Given the description of an element on the screen output the (x, y) to click on. 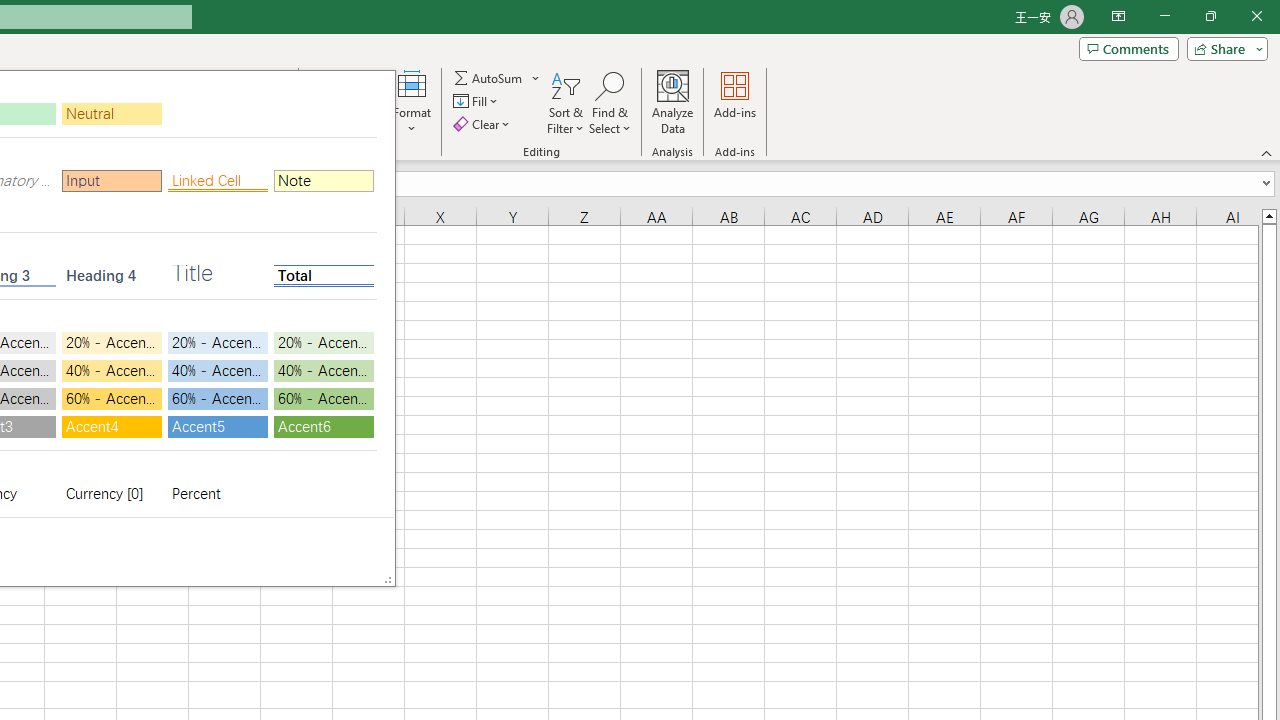
AutoSum (497, 78)
Find & Select (610, 102)
Fill (477, 101)
Sort & Filter (566, 102)
